Given the description of an element on the screen output the (x, y) to click on. 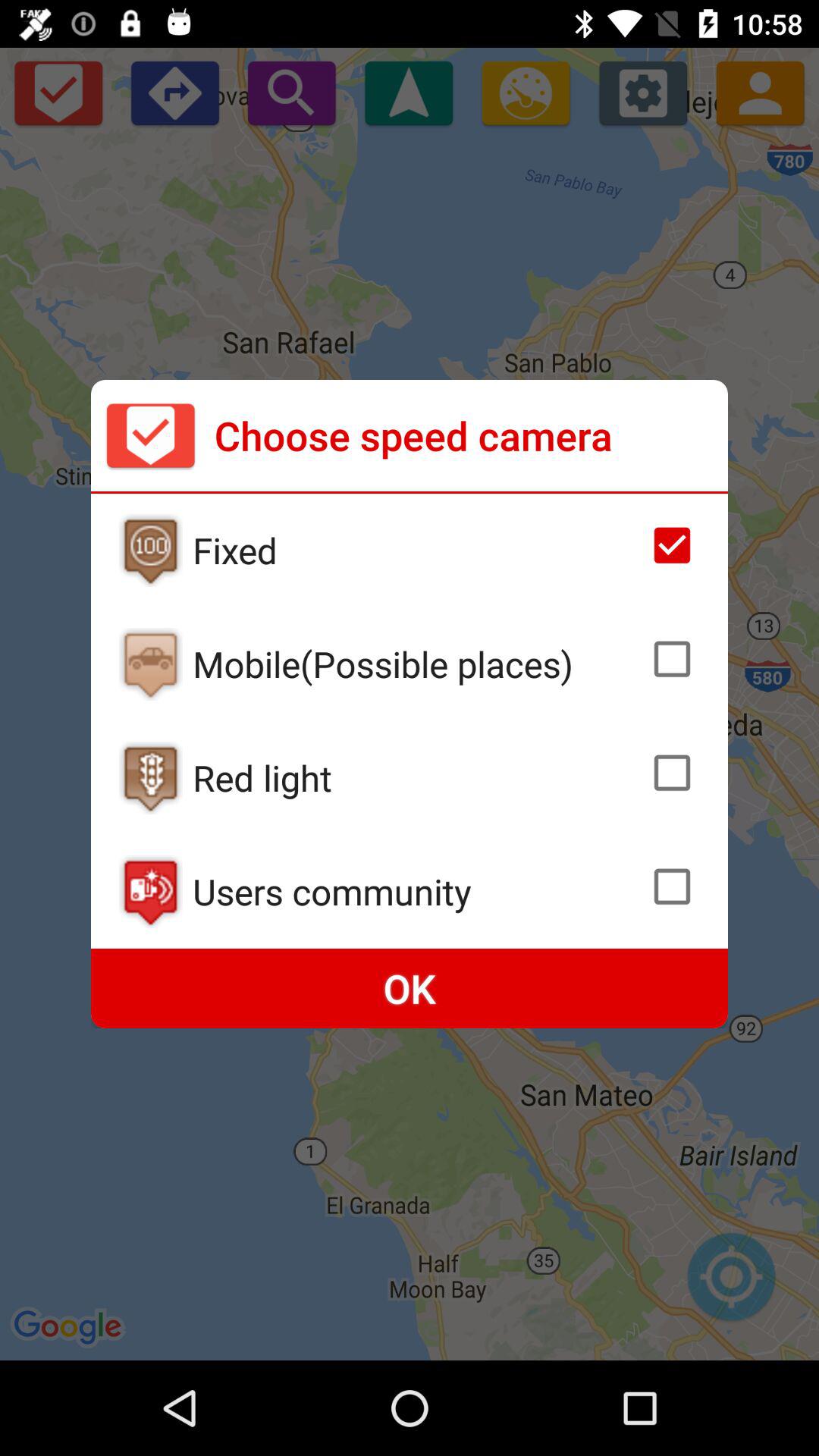
go to mobile option (150, 664)
